Given the description of an element on the screen output the (x, y) to click on. 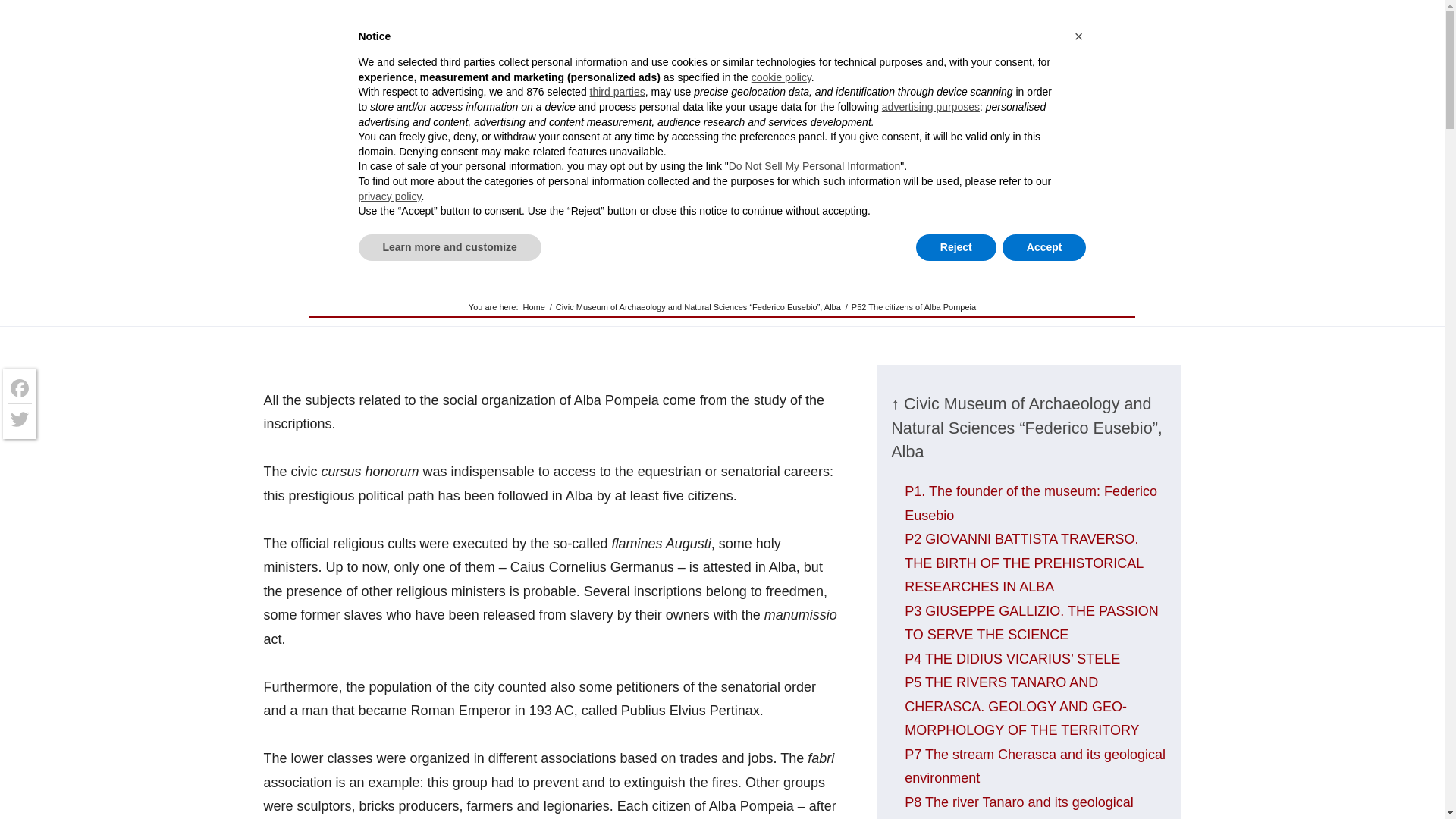
English (309, 49)
AMBIENTE (1023, 33)
Twitter (335, 11)
THE ASSOCIATION (376, 33)
P8 The river Tanaro and its geological environment (1019, 806)
P1. The founder of the museum: Federico Eusebio (1030, 503)
P1. The founder of the museum: Federico Eusebio (1030, 503)
Flickr (404, 11)
P7 The stream Cherasca and its geological environment (1035, 766)
HOME PAGE (324, 193)
Youtube (358, 11)
Permanent Link: P52 The citizens of Alba Pompeia (722, 247)
P52 The citizens of Alba Pompeia (722, 247)
Home (533, 307)
